Given the description of an element on the screen output the (x, y) to click on. 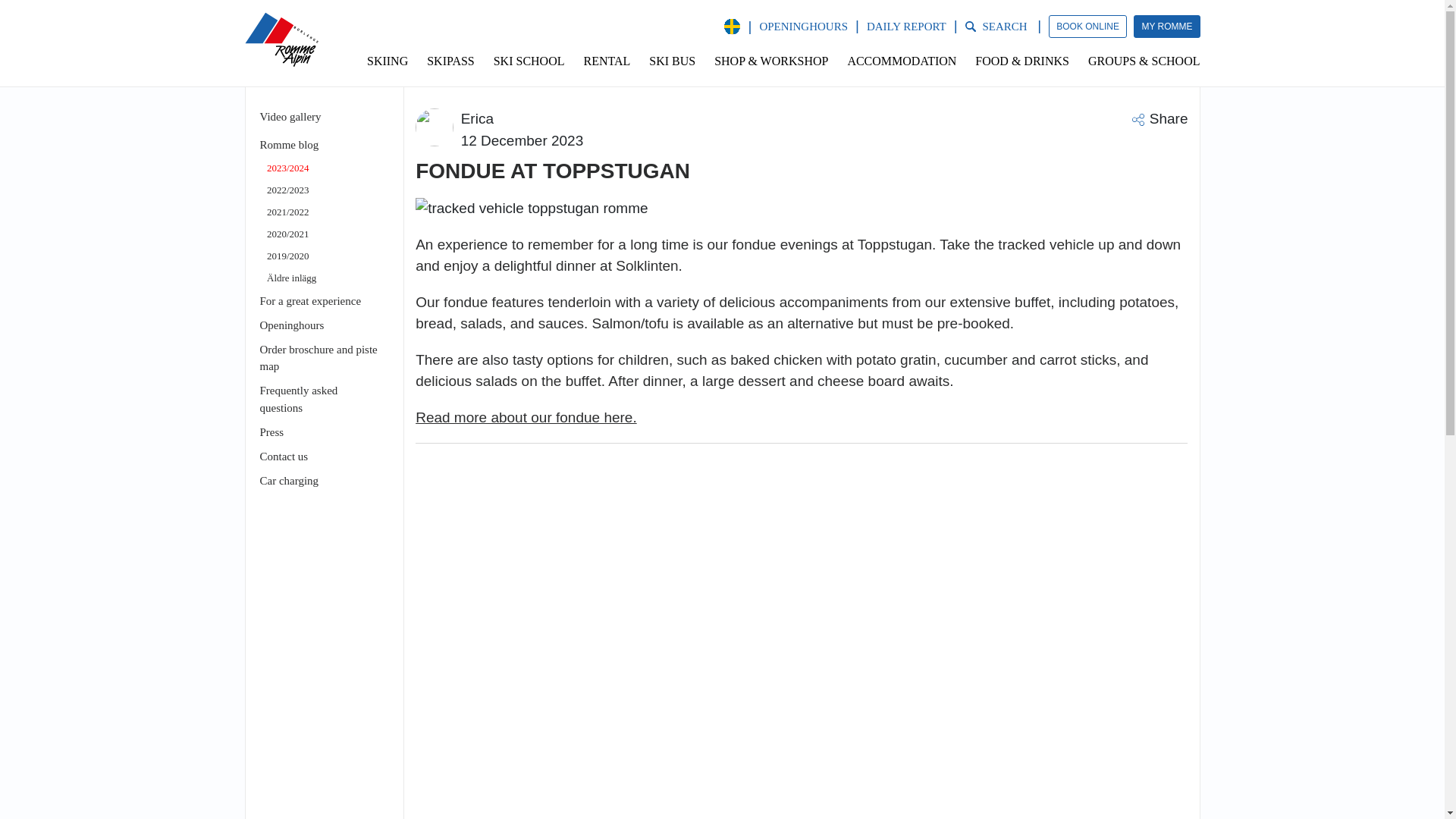
Video gallery (289, 116)
SKI SCHOOL (528, 61)
Contact us (283, 456)
Openinghours (291, 325)
Press (271, 431)
Romme blog (288, 144)
MY ROMME (1166, 26)
DAILY REPORT (906, 26)
Byt till svenska (731, 26)
SKIPASS (450, 61)
Order broschure and piste map (318, 358)
ACCOMMODATION (902, 61)
BOOK ONLINE (1087, 26)
Read more about our fondue here. (525, 417)
OPENINGHOURS (802, 26)
